Given the description of an element on the screen output the (x, y) to click on. 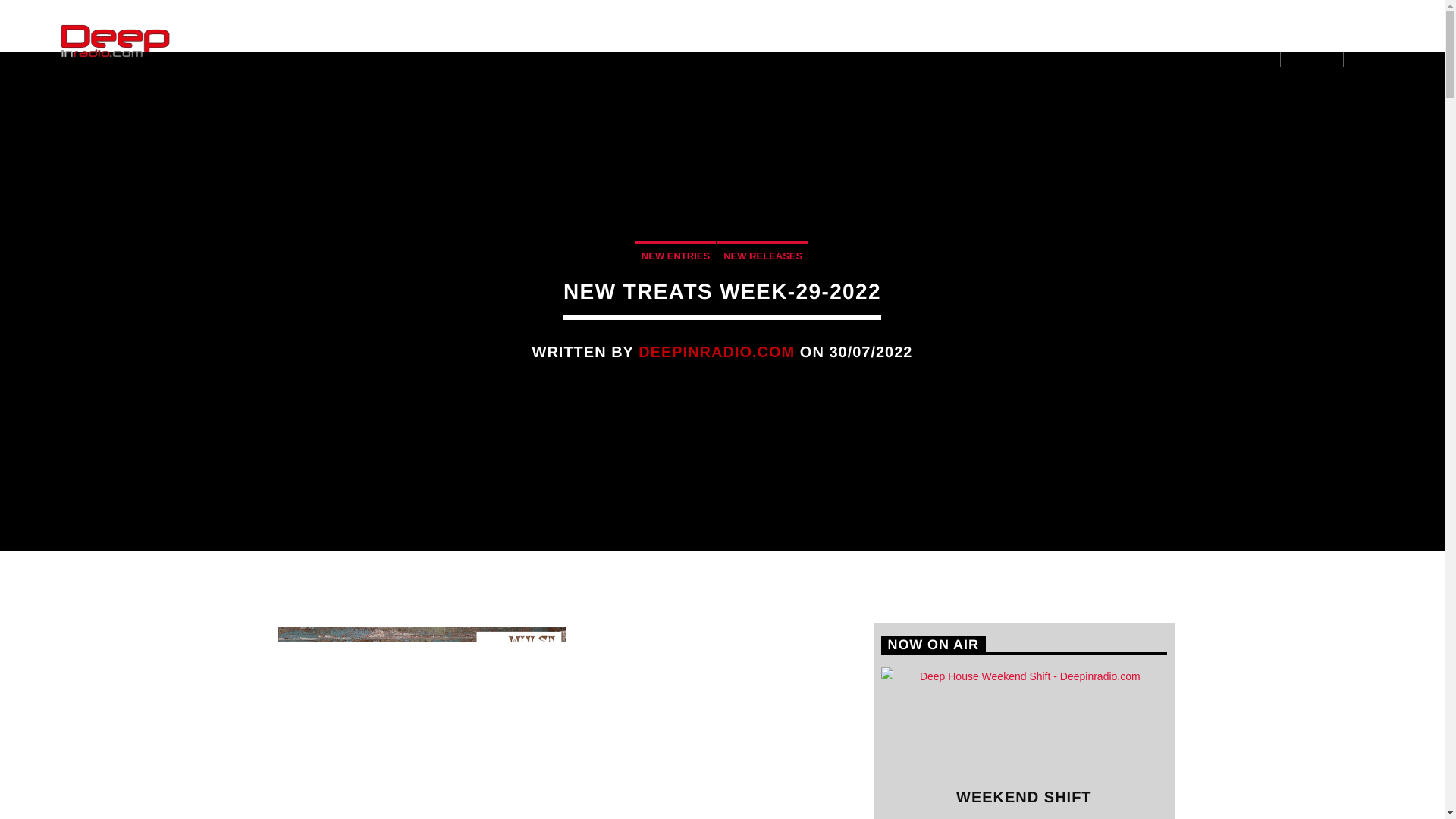
Home (236, 40)
Shows (308, 40)
Search (1203, 82)
Contact (541, 40)
NEW ENTRIES (675, 254)
Posts by deepinradio.com (716, 351)
NEW RELEASES (762, 254)
DEEPINRADIO.COM (716, 351)
Schedule (456, 40)
News (379, 40)
